Given the description of an element on the screen output the (x, y) to click on. 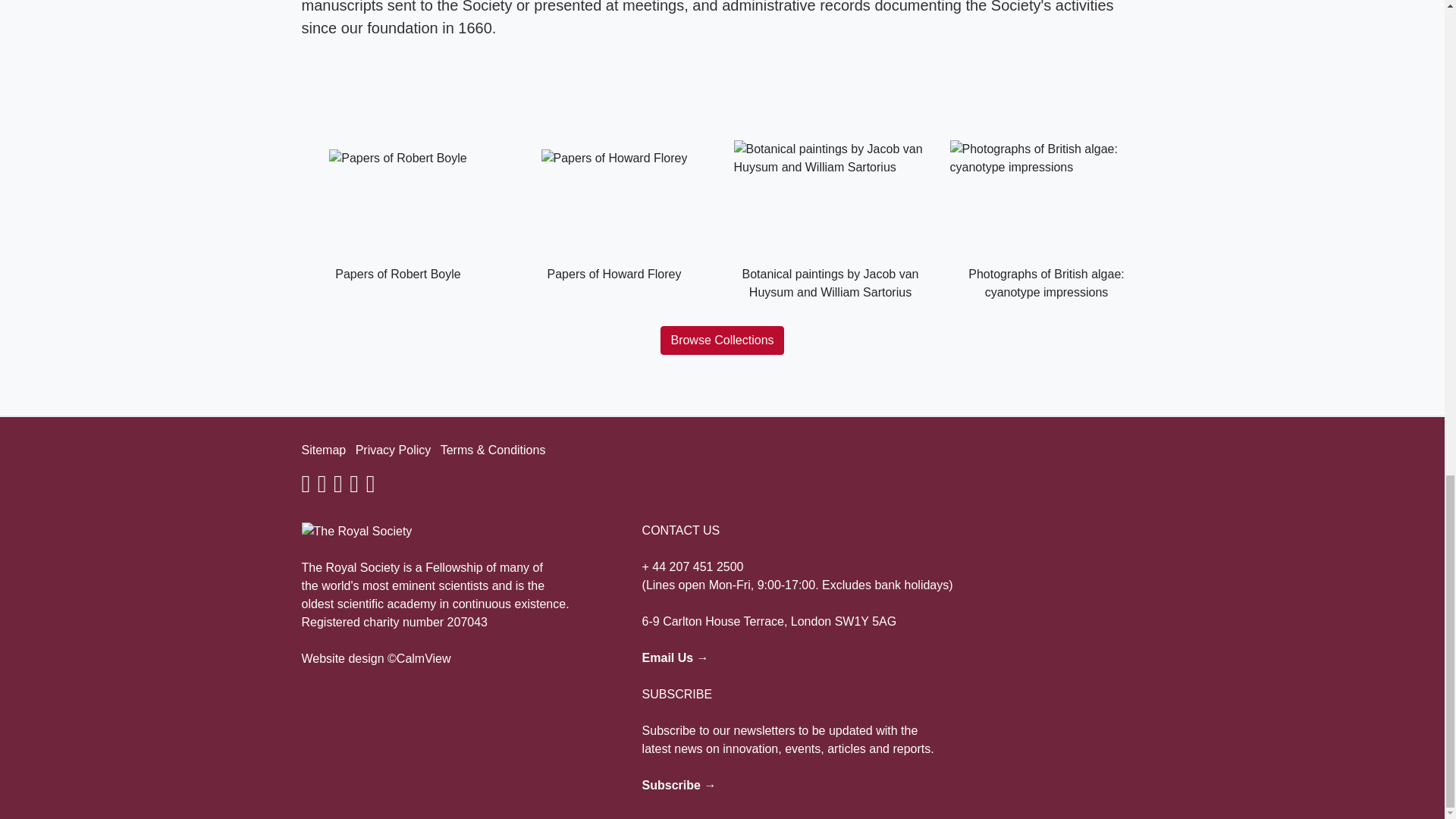
Sitemap (323, 449)
Browse Collections (722, 339)
Privacy Policy (392, 449)
